Given the description of an element on the screen output the (x, y) to click on. 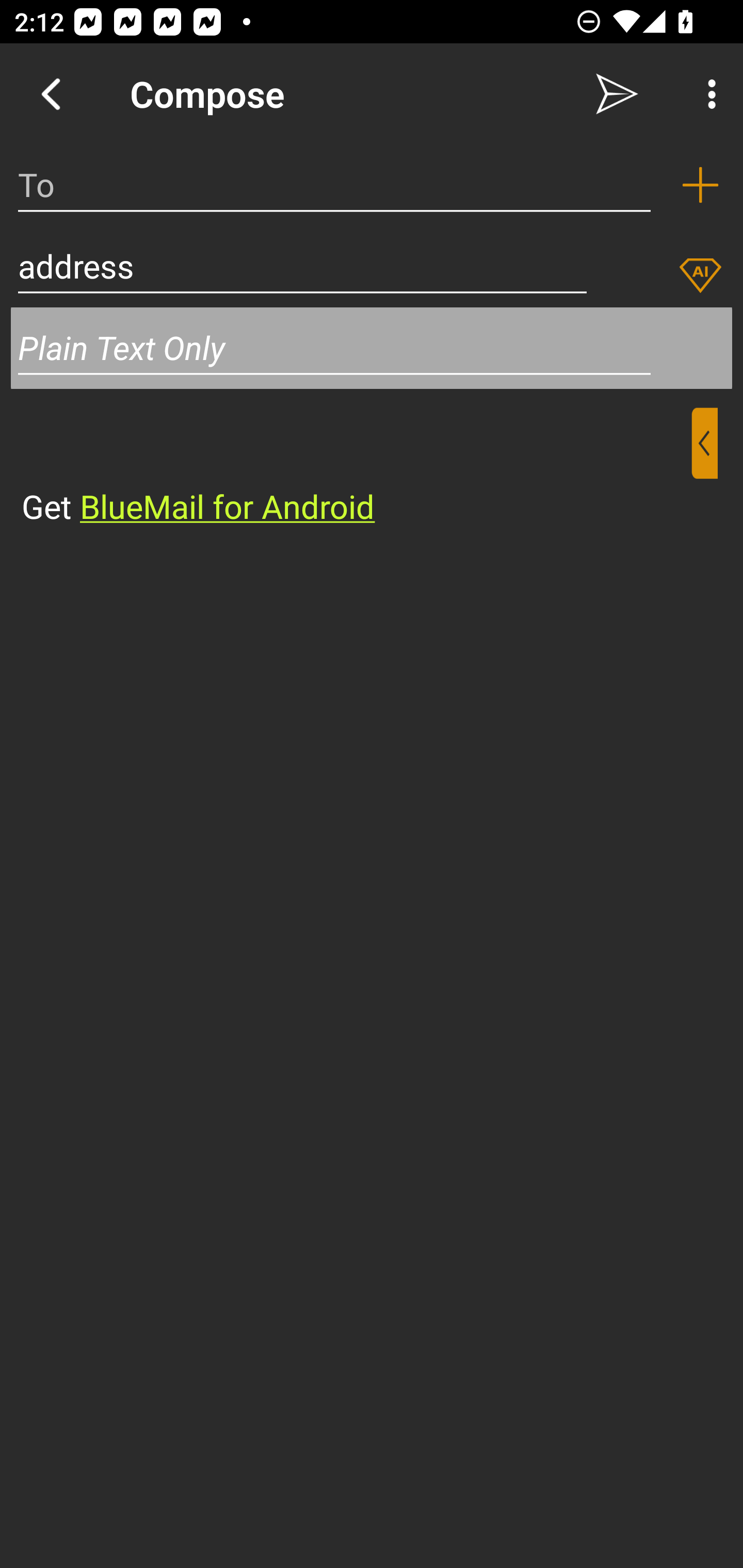
Navigate up (50, 93)
Send (616, 93)
More Options (706, 93)
To (334, 184)
Add recipient (To) (699, 184)
address (302, 266)
Plain Text Only (371, 347)


⁣Get BlueMail for Android ​ (355, 468)
